Given the description of an element on the screen output the (x, y) to click on. 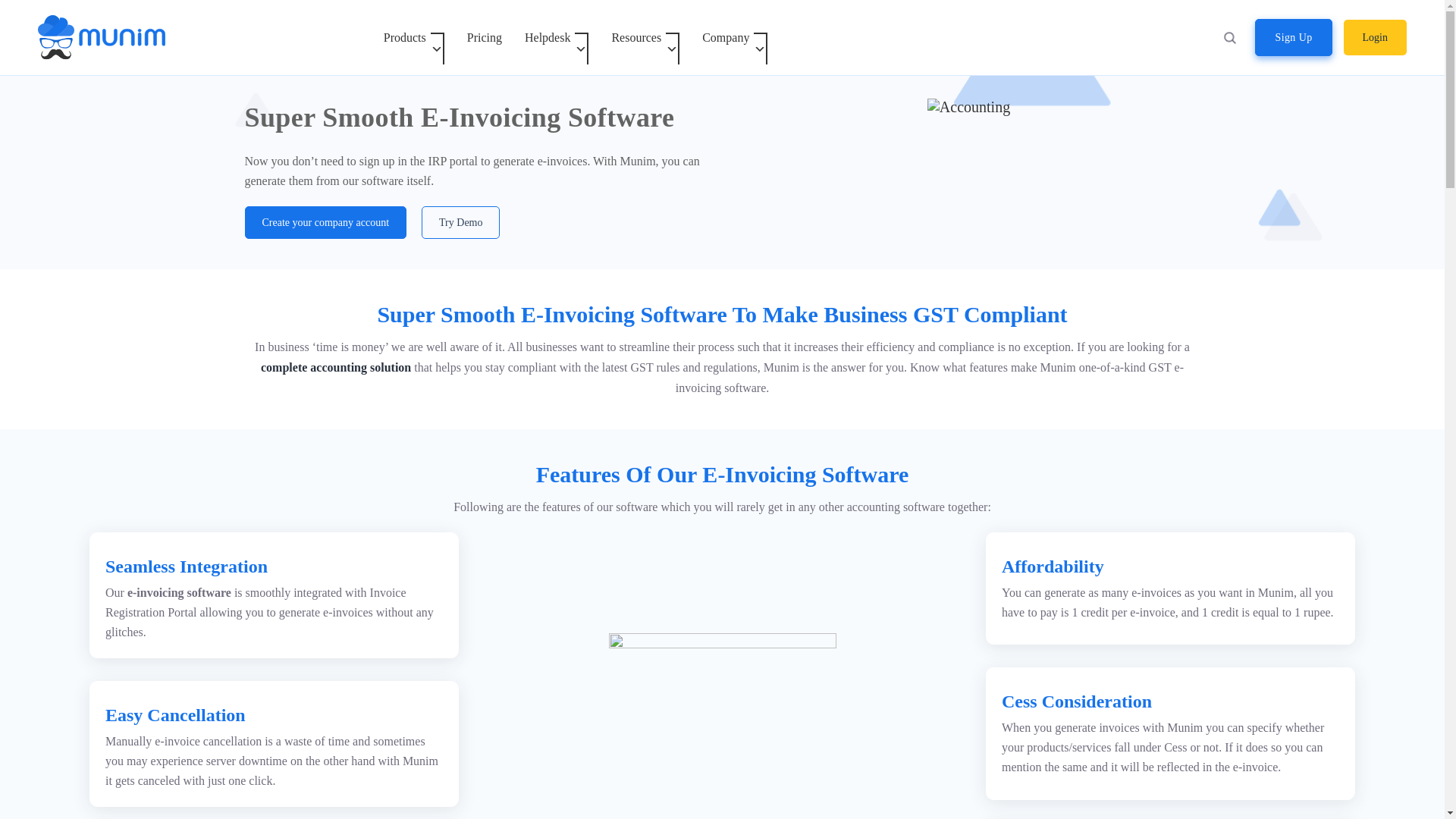
Pricing (484, 37)
Munim (101, 37)
Themunim (101, 23)
Helpdesk (556, 37)
Products (413, 37)
Resources (644, 37)
